Given the description of an element on the screen output the (x, y) to click on. 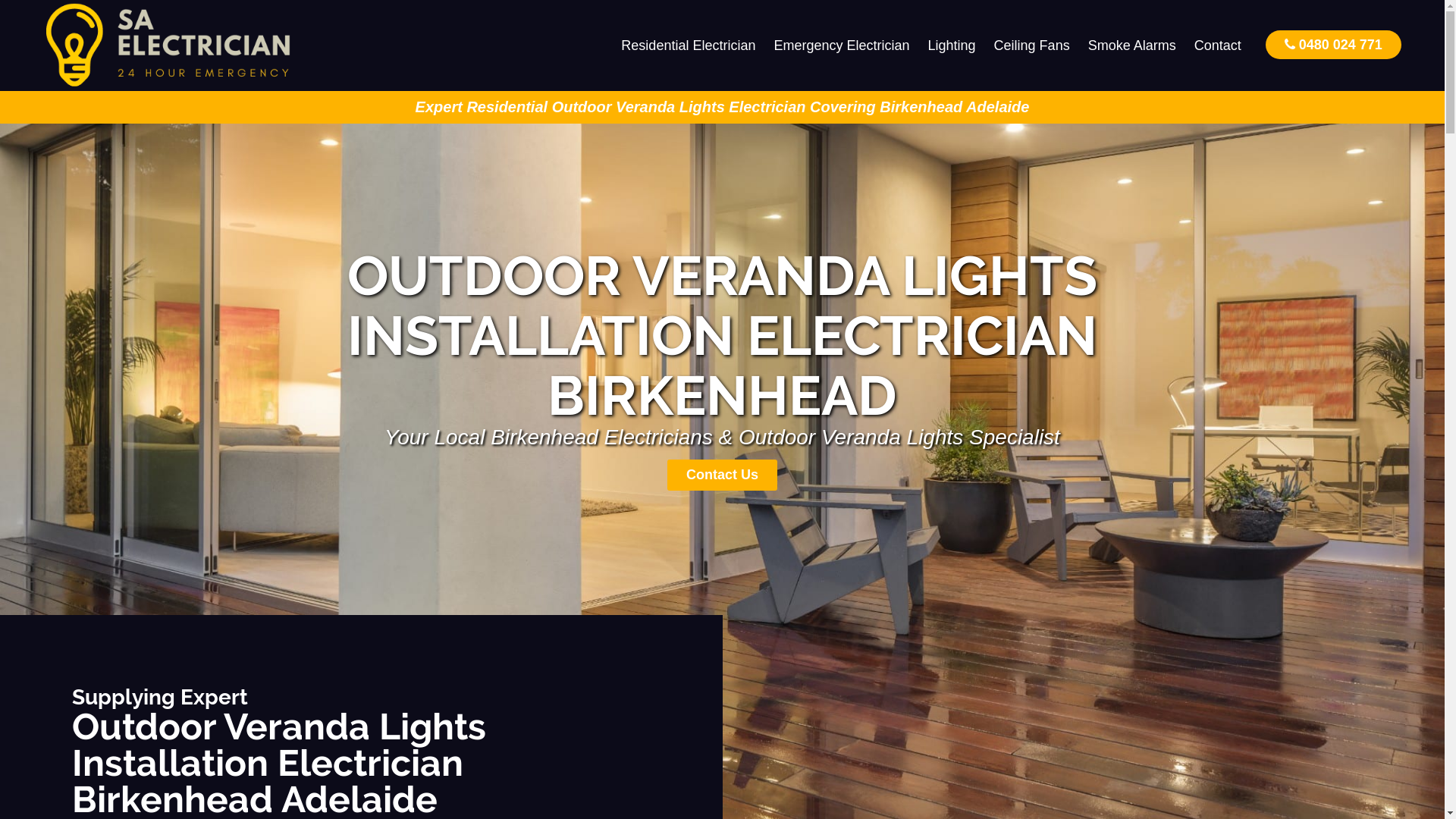
Emergency Electrician Element type: text (841, 45)
Residential Electrician Element type: text (687, 45)
Lighting Element type: text (952, 45)
Smoke Alarms Element type: text (1132, 45)
Contact Us Element type: text (722, 474)
Contact Element type: text (1217, 45)
Ceiling Fans Element type: text (1032, 45)
0480 024 771 Element type: text (1333, 44)
